Given the description of an element on the screen output the (x, y) to click on. 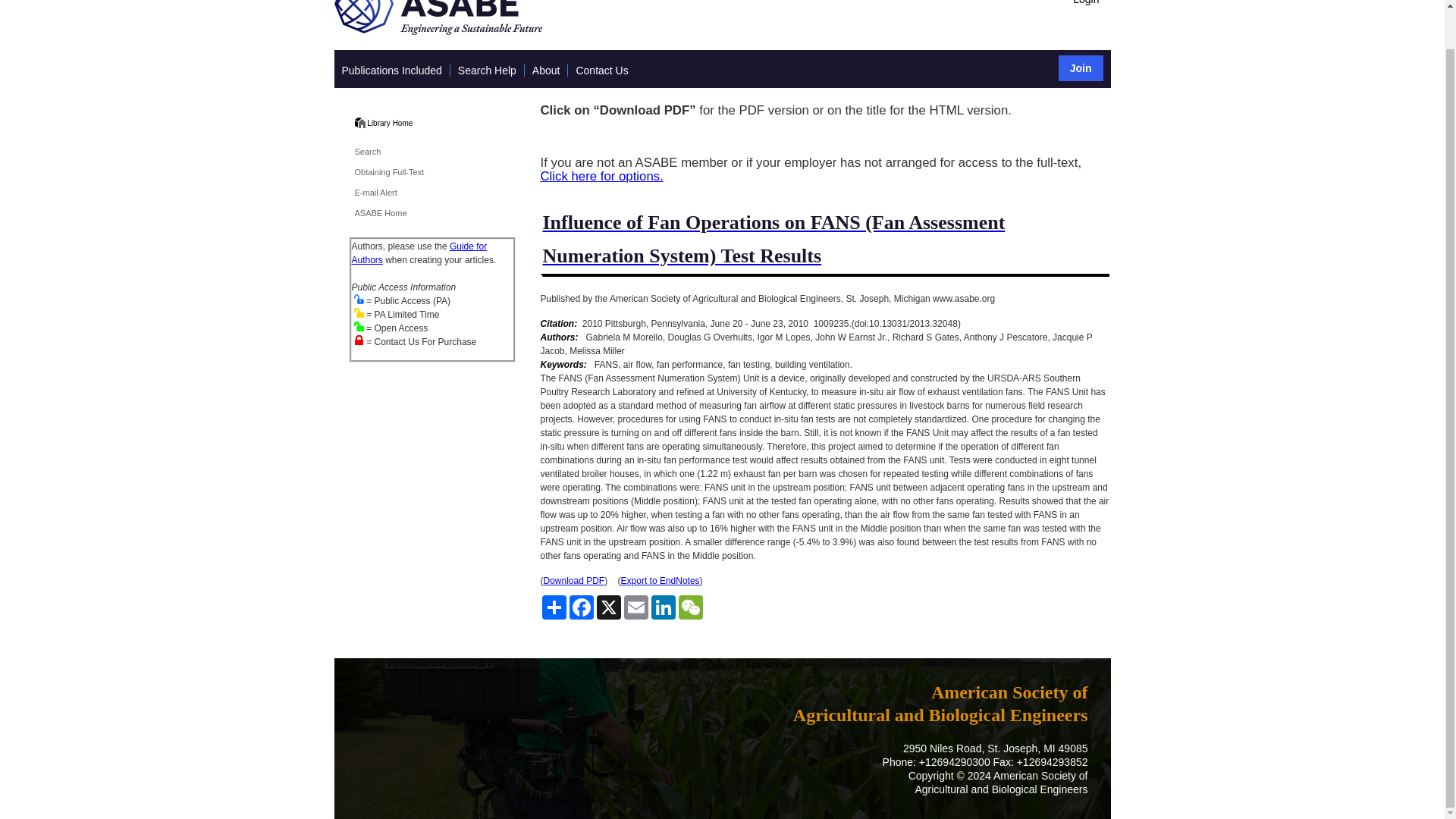
Public Access Limited Time (358, 312)
Home (360, 122)
Public Access (358, 298)
Email (635, 607)
Join (1080, 68)
ASABE (437, 31)
E-mail Alert (376, 192)
Download PDF (573, 580)
ASABE Home (381, 212)
Search Help (486, 70)
Login (1085, 3)
Home (389, 122)
Contact Us (600, 70)
Contact Us For Purchase (358, 339)
Click here for options. (601, 175)
